Given the description of an element on the screen output the (x, y) to click on. 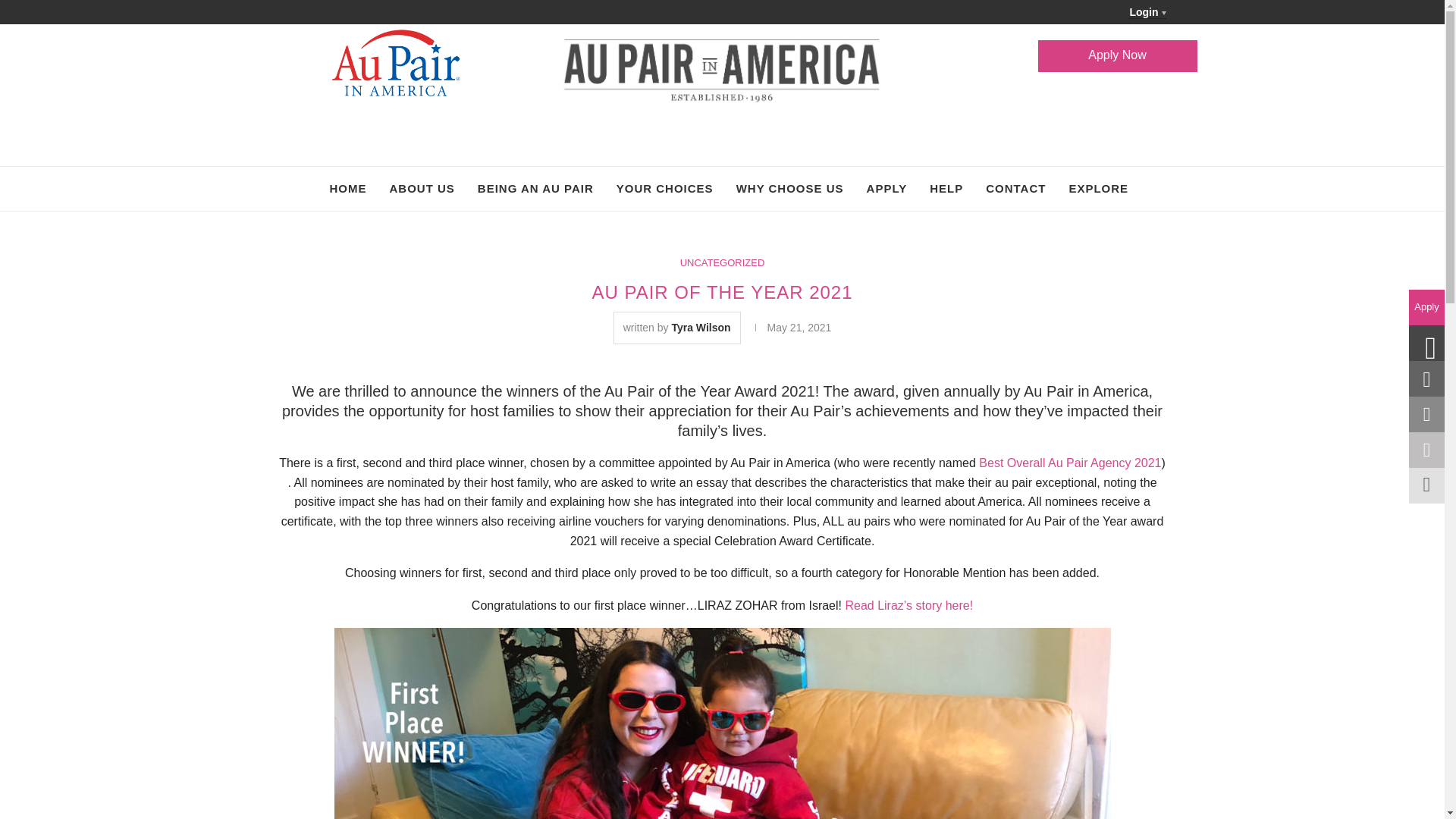
CONTACT (1015, 188)
BEING AN AU PAIR (535, 188)
Apply Now (1116, 56)
APPLY (886, 188)
Best Overall Au Pair Agency 2021 (1069, 462)
YOUR CHOICES (664, 188)
WHY CHOOSE US (790, 188)
Tyra Wilson (700, 327)
Login (1147, 11)
ABOUT US (421, 188)
EXPLORE (1098, 188)
UNCATEGORIZED (722, 263)
